Given the description of an element on the screen output the (x, y) to click on. 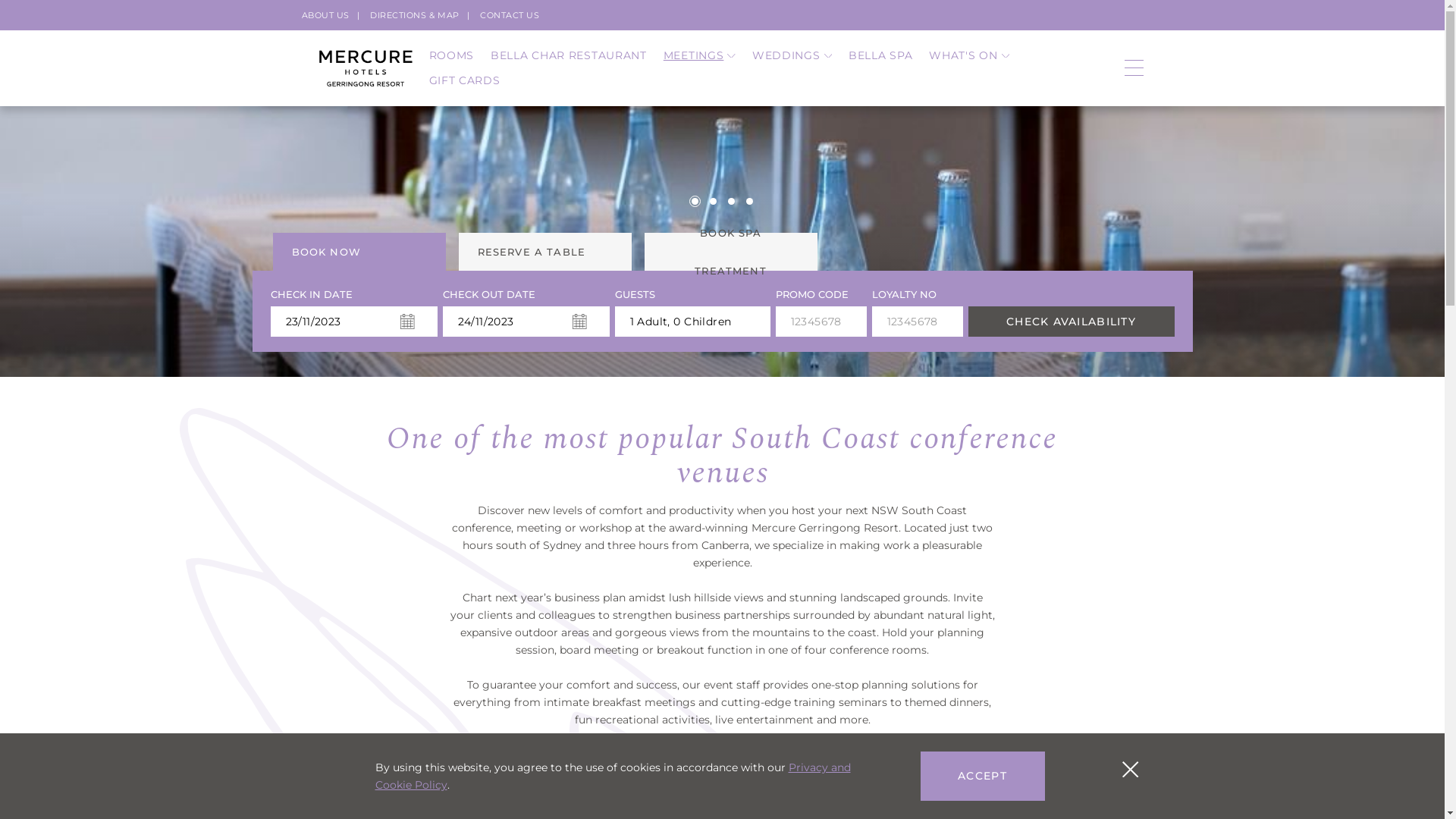
1 Adult, 0 Children Element type: text (691, 321)
BELLA CHAR RESTAURANT Element type: text (568, 55)
BOOK SPA TREATMENT Element type: text (730, 251)
WEDDINGS Element type: text (791, 55)
DIRECTIONS & MAP Element type: text (414, 14)
GIFT CARDS Element type: text (464, 80)
ROOMS Element type: text (451, 55)
BELLA SPA Element type: text (880, 55)
CHECK AVAILABILITY Element type: text (1070, 321)
ABOUT US Element type: text (325, 14)
CONTACT US Element type: text (509, 14)
Privacy and Cookie Policy Element type: text (612, 775)
WHAT'S ON Element type: text (968, 55)
ACCEPT Element type: text (982, 775)
BOOK NOW Element type: text (359, 251)
MEETINGS Element type: text (699, 55)
RESERVE A TABLE Element type: text (544, 251)
